Given the description of an element on the screen output the (x, y) to click on. 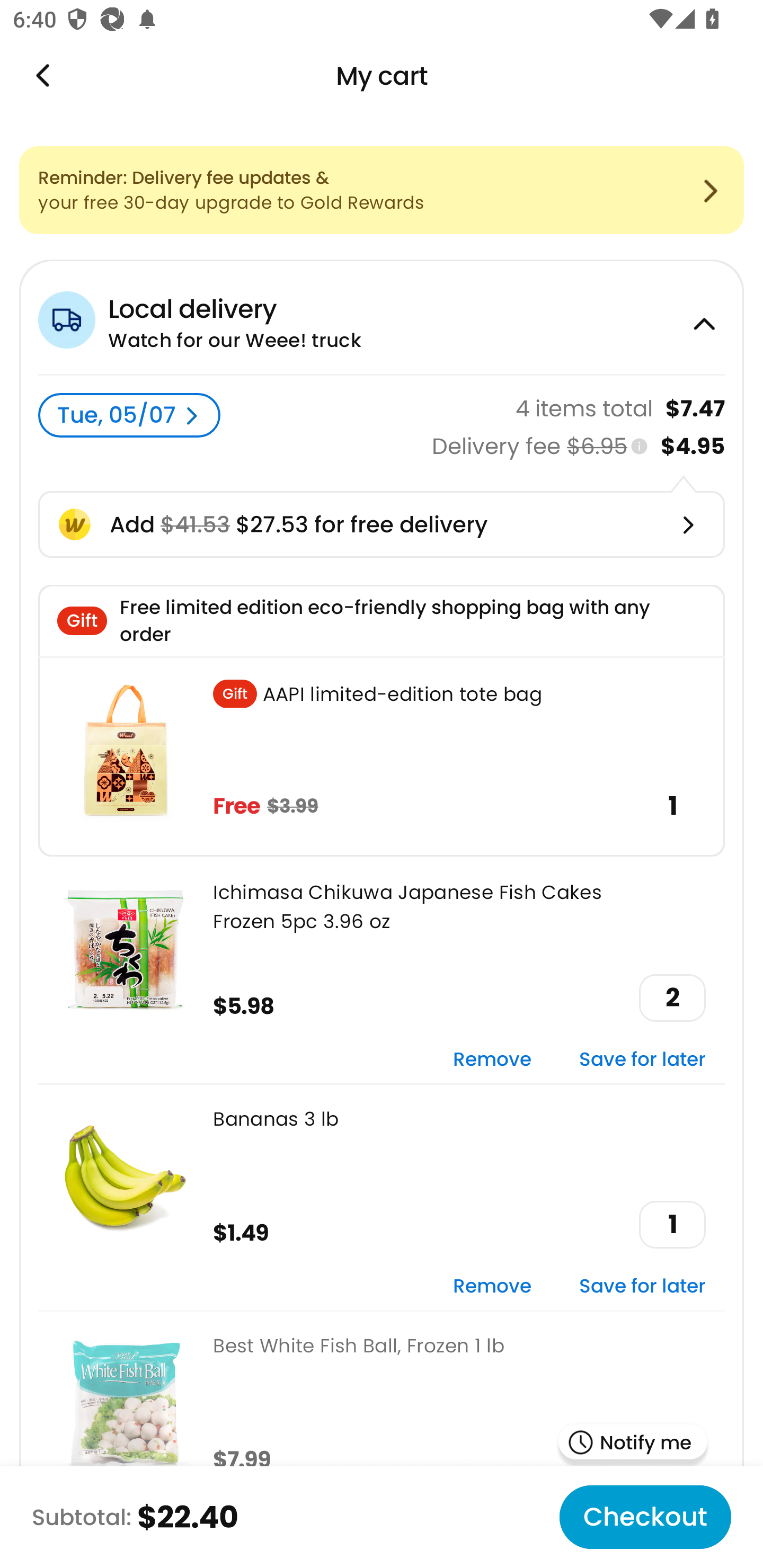
Local delivery Watch for our Weee! truck (381, 317)
Tue, 05/07 (129, 415)
Add $41.53 $27.53 for free delivery (381, 524)
. AAPI limited-edition tote bag Free $3.99 1 (381, 756)
2 (672, 997)
Remove (491, 1060)
Save for later (642, 1060)
Bananas 3 lb $1.49 1 Remove Save for later (381, 1196)
1 (672, 1224)
Remove (491, 1286)
Save for later (642, 1286)
Notify me (632, 1444)
Checkout (644, 1516)
